Given the description of an element on the screen output the (x, y) to click on. 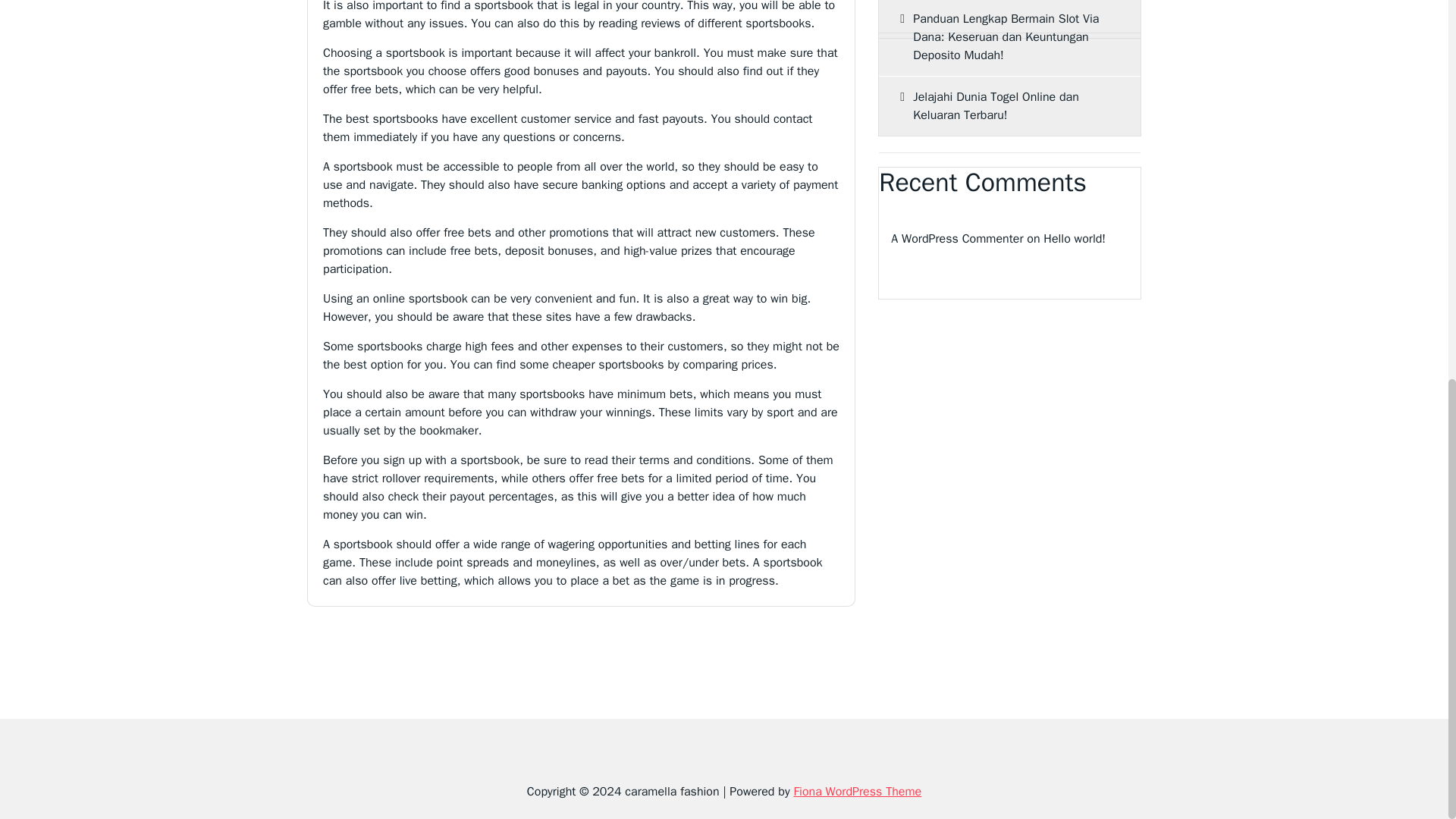
Jelajahi Dunia Togel Online dan Keluaran Terbaru! (1009, 105)
A WordPress Commenter (957, 239)
Fiona WordPress Theme (857, 791)
Hello world! (1074, 239)
